Given the description of an element on the screen output the (x, y) to click on. 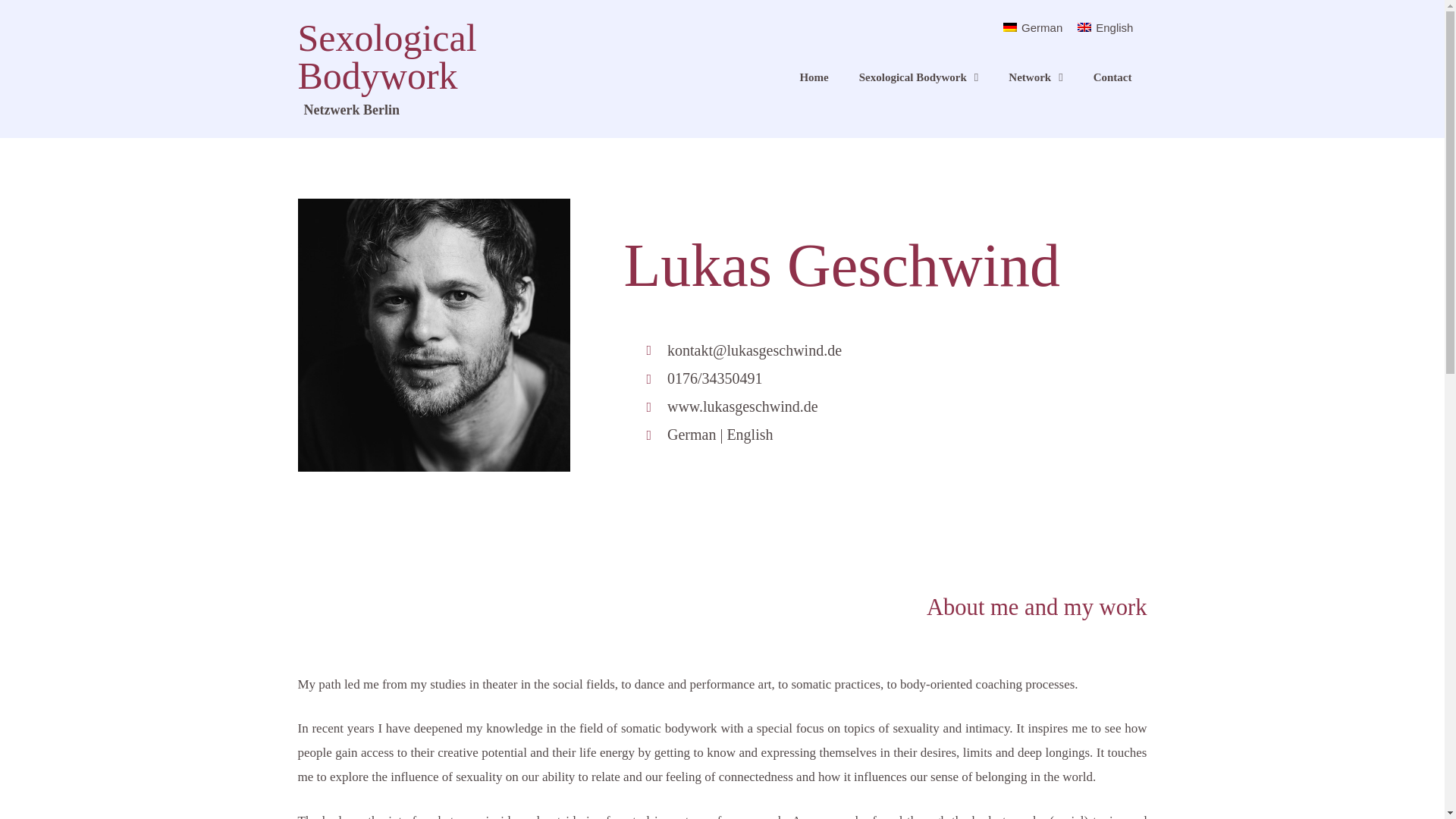
German (1032, 26)
English (1105, 26)
Contact (1112, 77)
Sexological Bodywork (919, 77)
Network (1034, 77)
www.lukasgeschwind.de (868, 406)
Home (813, 77)
Sexological Bodywork (386, 56)
